Given the description of an element on the screen output the (x, y) to click on. 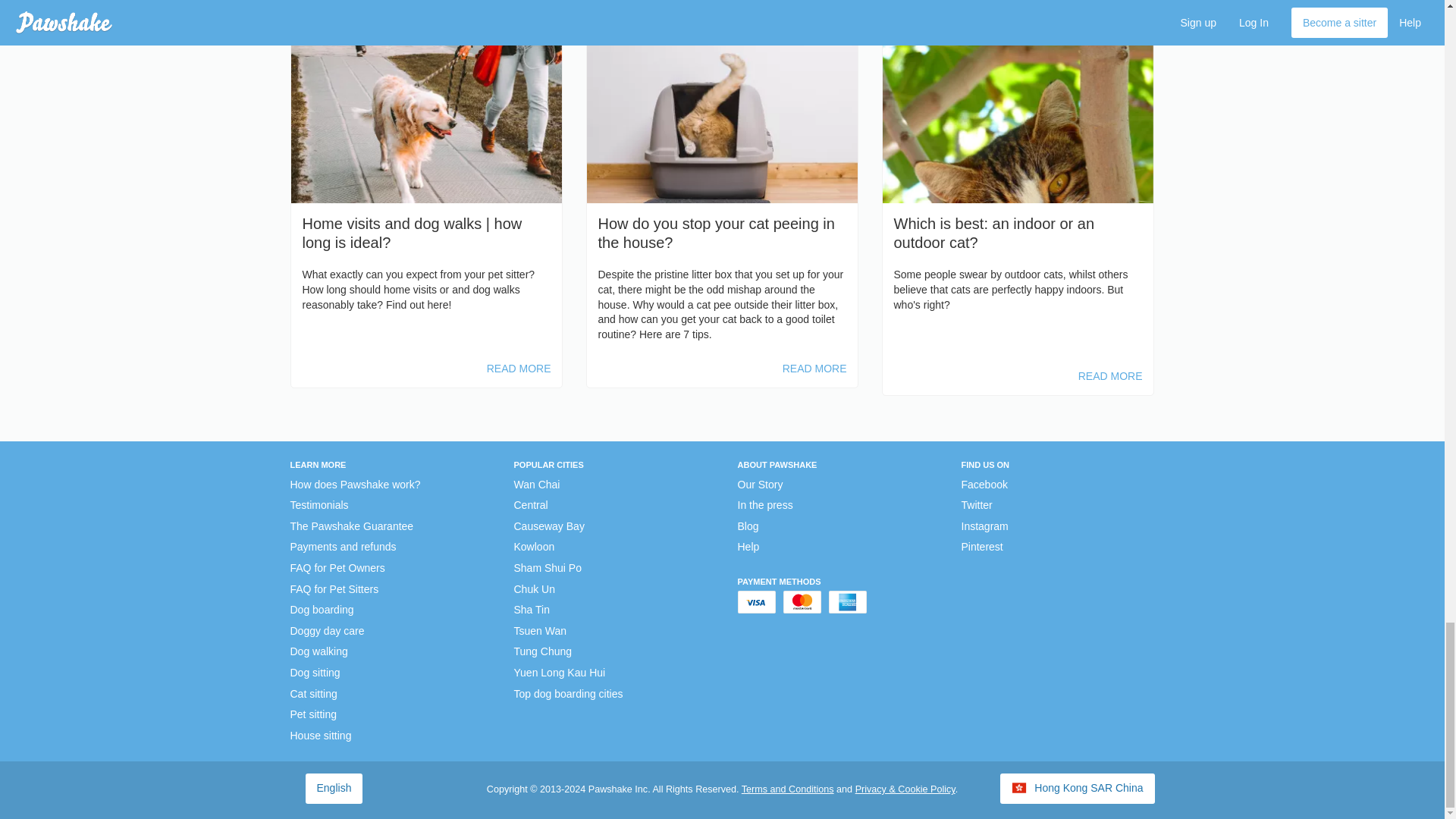
Wan Chai (536, 485)
How does Pawshake work? (354, 485)
Causeway Bay (549, 526)
Central (530, 505)
Dog walking (318, 652)
Dog sitting (314, 672)
The Pawshake Guarantee (351, 526)
Payments and refunds (342, 547)
FAQ for Pet Sitters (333, 589)
Pet sitting (312, 714)
Dog boarding (321, 610)
House sitting (319, 735)
Cat sitting (312, 694)
FAQ for Pet Owners (336, 568)
Testimonials (318, 505)
